Given the description of an element on the screen output the (x, y) to click on. 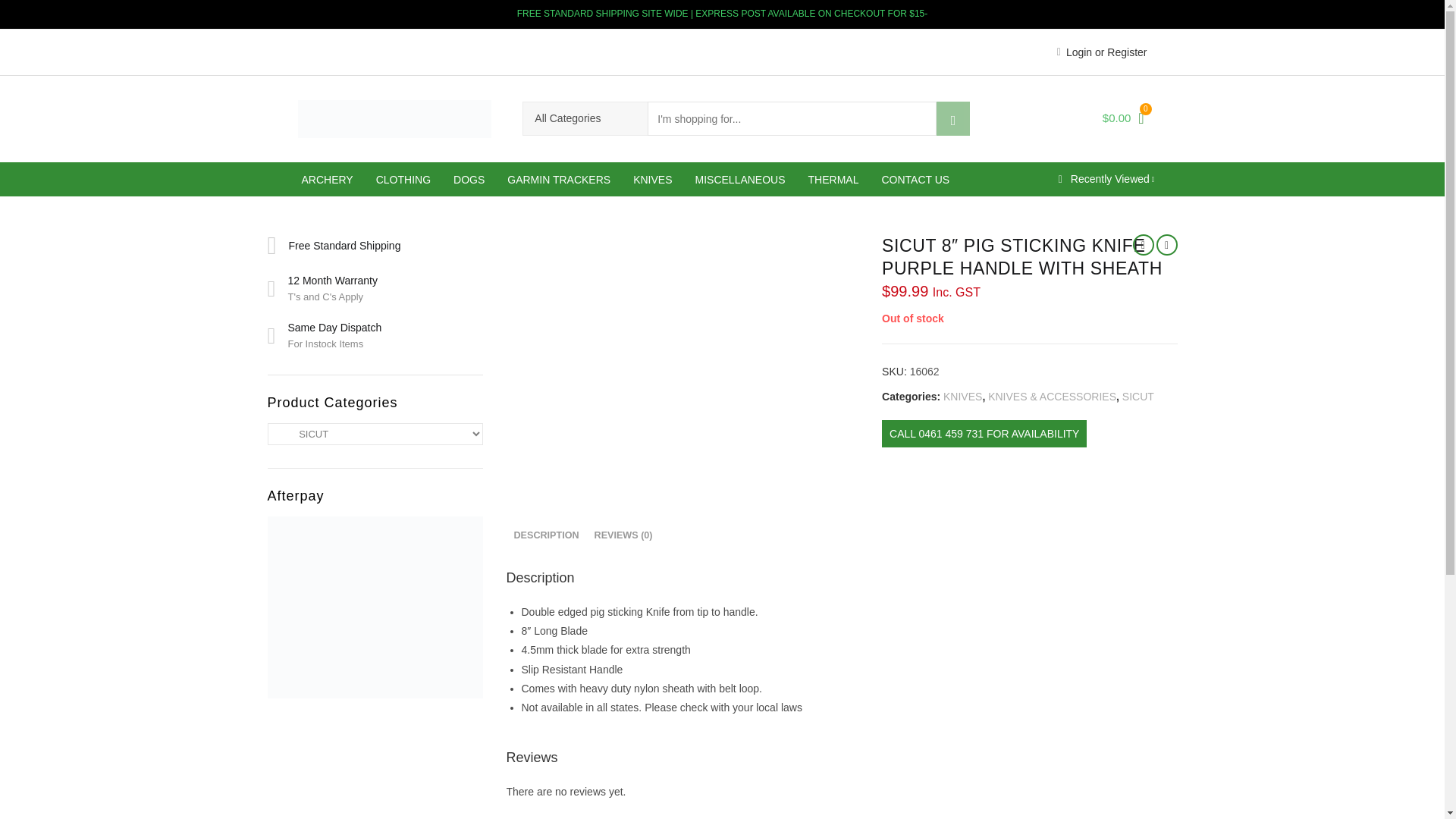
GARMIN TRACKERS (558, 179)
KNIVES (651, 179)
DOGS (469, 179)
ARCHERY (326, 179)
Login or Register (1102, 52)
Login or Register (1102, 52)
CLOTHING (403, 179)
